Given the description of an element on the screen output the (x, y) to click on. 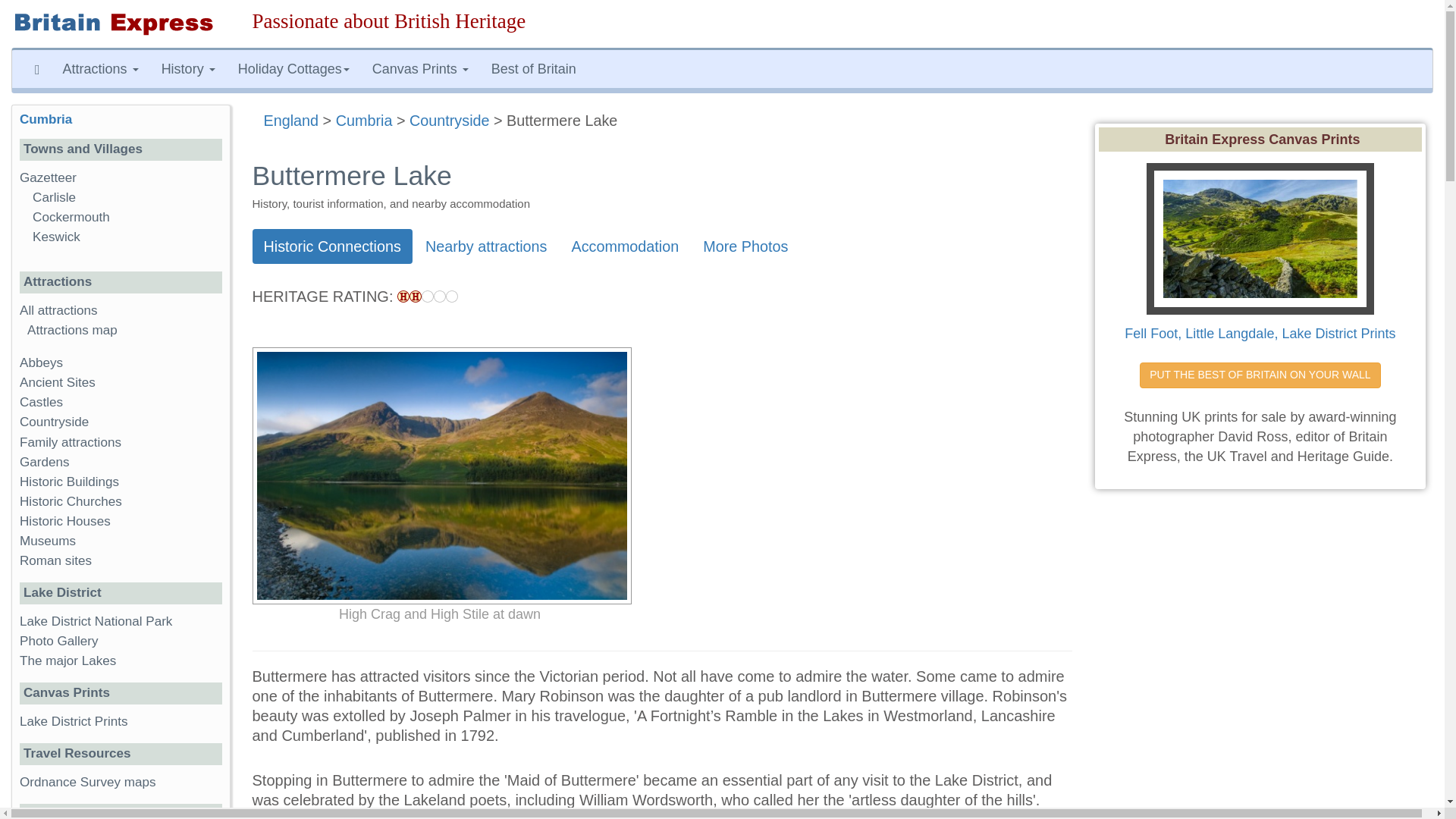
History (188, 68)
Nearby attractions (486, 246)
Countryside (449, 120)
More Photos (745, 246)
Canvas Prints (420, 68)
Historic Connections (331, 246)
Attractions (99, 68)
Accommodation (624, 246)
Britain Express home page (120, 23)
Cumbria (364, 120)
Holiday Cottages (294, 68)
England (290, 120)
Best of Britain (534, 68)
